Given the description of an element on the screen output the (x, y) to click on. 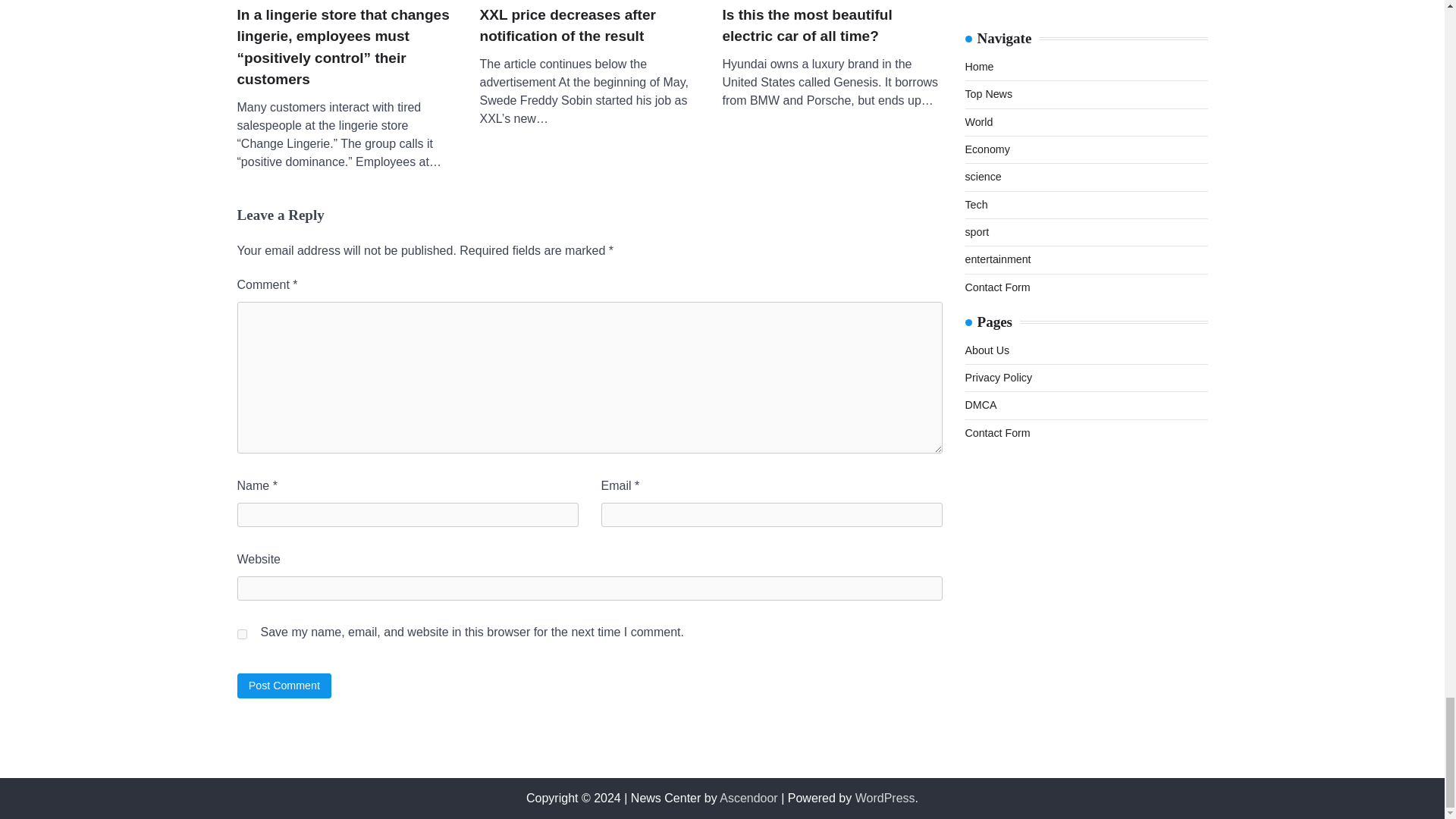
Is this the most beautiful electric car of all time? (832, 25)
yes (240, 634)
Post Comment (283, 685)
Post Comment (283, 685)
XXL price decreases after notification of the result (588, 25)
